Given the description of an element on the screen output the (x, y) to click on. 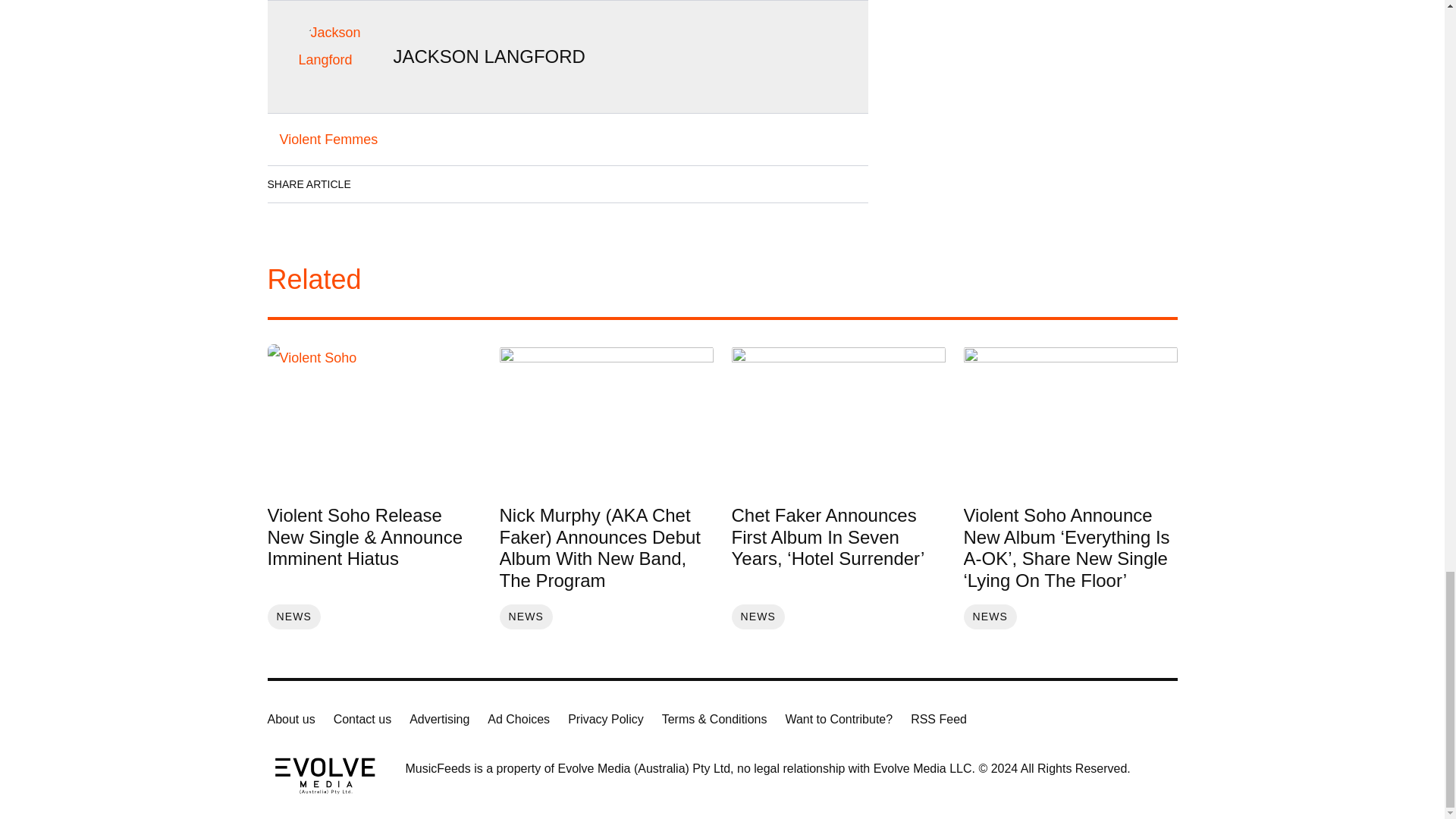
Facebook (377, 183)
JACKSON LANGFORD (489, 55)
Violent Femmes (328, 139)
Pinterest (505, 183)
LinkedIn (420, 183)
Twitter (463, 183)
